Given the description of an element on the screen output the (x, y) to click on. 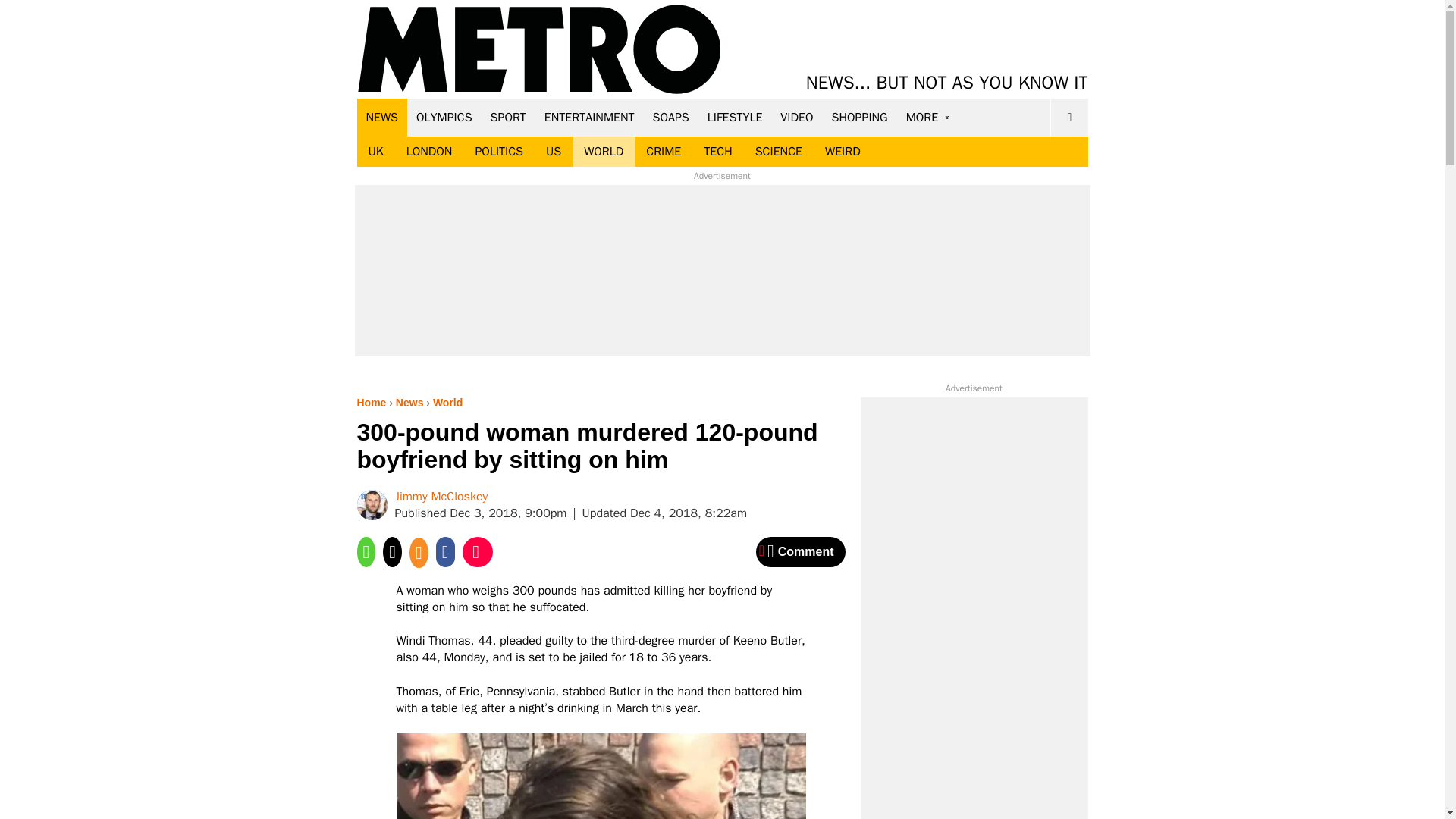
LONDON (429, 151)
OLYMPICS (444, 117)
ENTERTAINMENT (589, 117)
NEWS (381, 117)
SOAPS (670, 117)
SCIENCE (778, 151)
SPORT (508, 117)
Metro (539, 50)
US (553, 151)
POLITICS (498, 151)
